Given the description of an element on the screen output the (x, y) to click on. 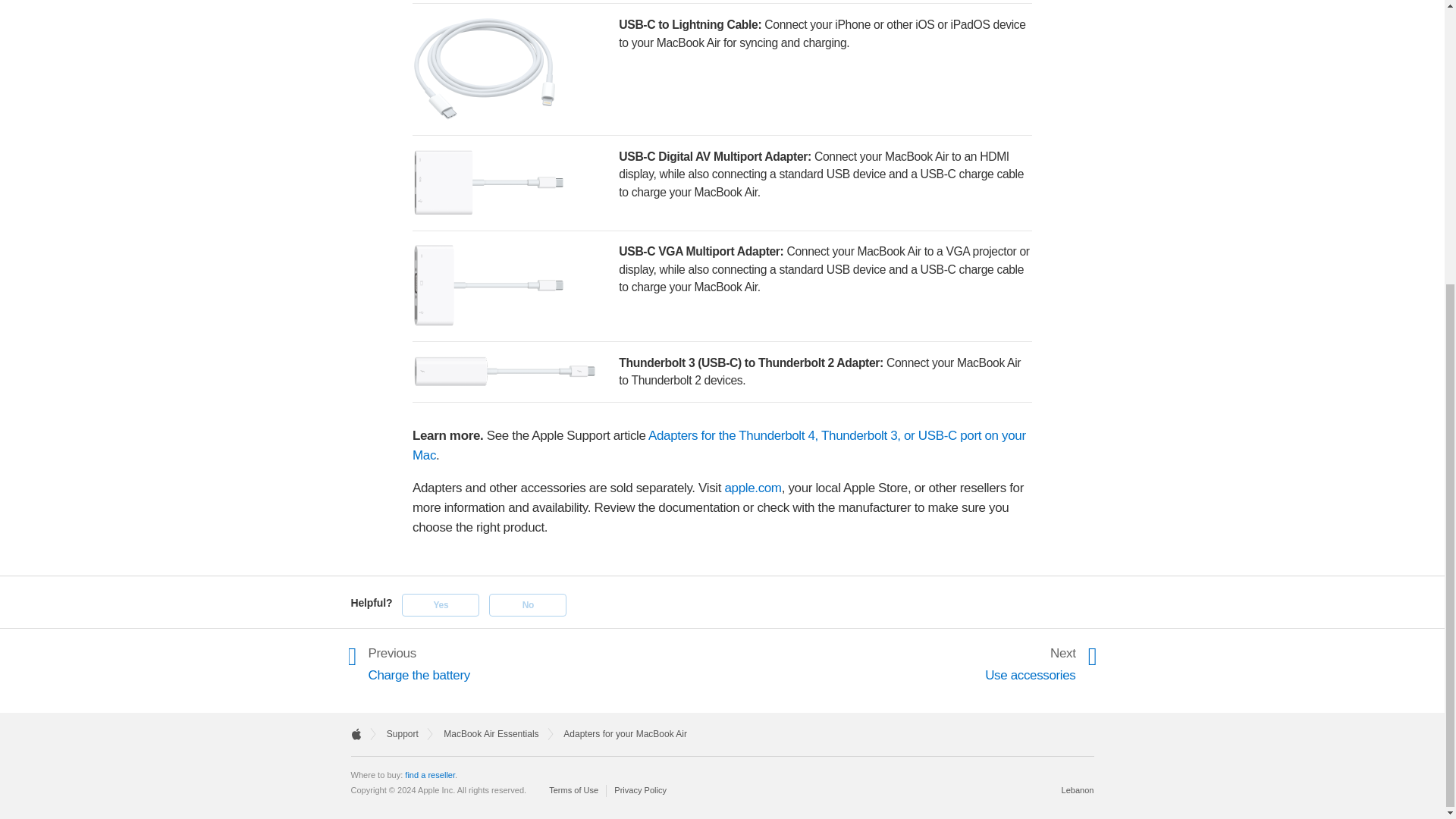
apple.com (1027, 663)
Lebanon (751, 487)
Solved my problem (1077, 789)
find a reseller (440, 604)
MacBook Air Essentials (429, 774)
No (491, 733)
Not helpful (527, 604)
